Given the description of an element on the screen output the (x, y) to click on. 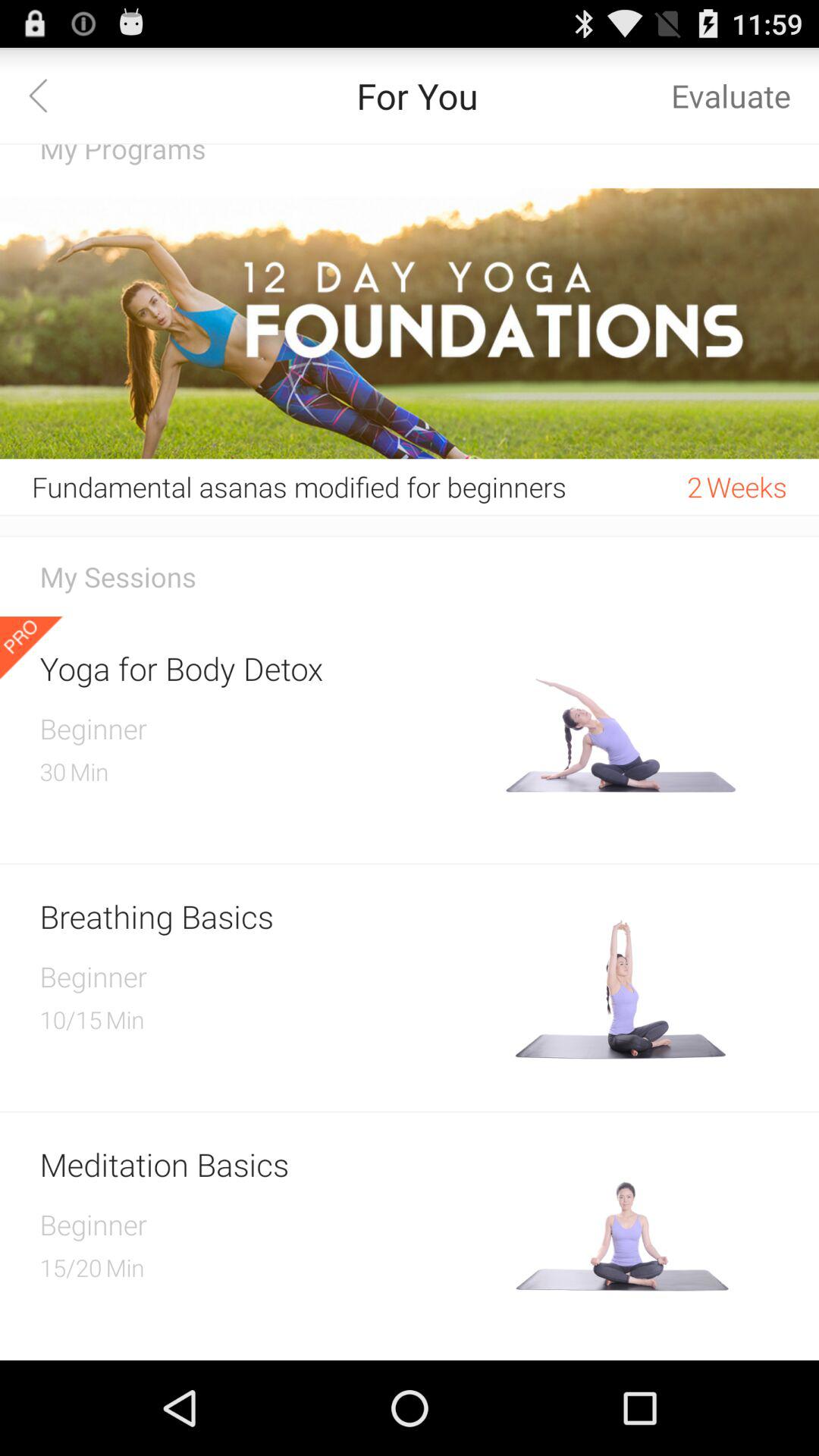
select icon below the my programs item (409, 323)
